Given the description of an element on the screen output the (x, y) to click on. 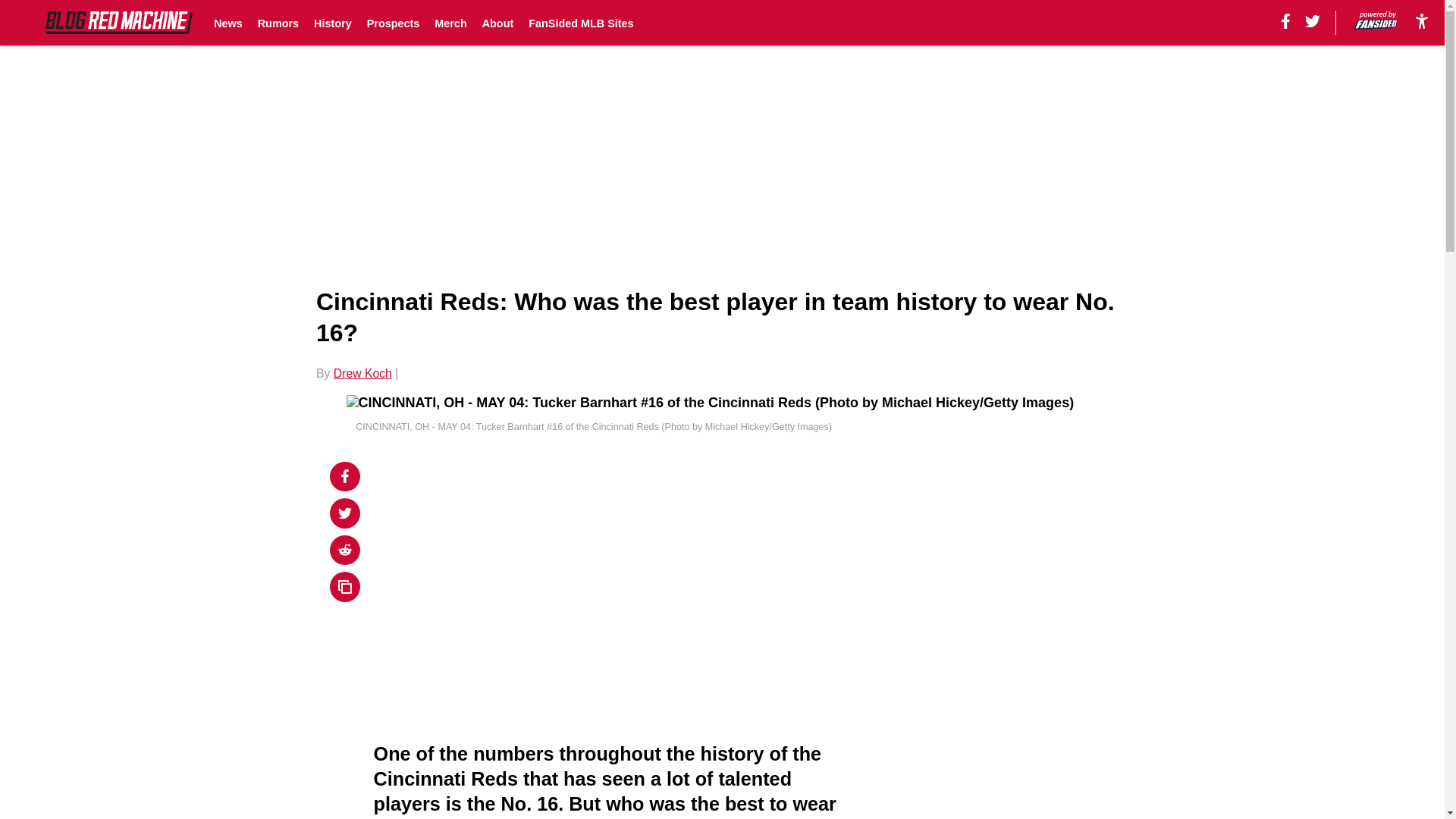
Drew Koch (362, 373)
FanSided MLB Sites (580, 23)
History (333, 23)
Rumors (277, 23)
Prospects (393, 23)
About (497, 23)
Merch (449, 23)
News (228, 23)
